Given the description of an element on the screen output the (x, y) to click on. 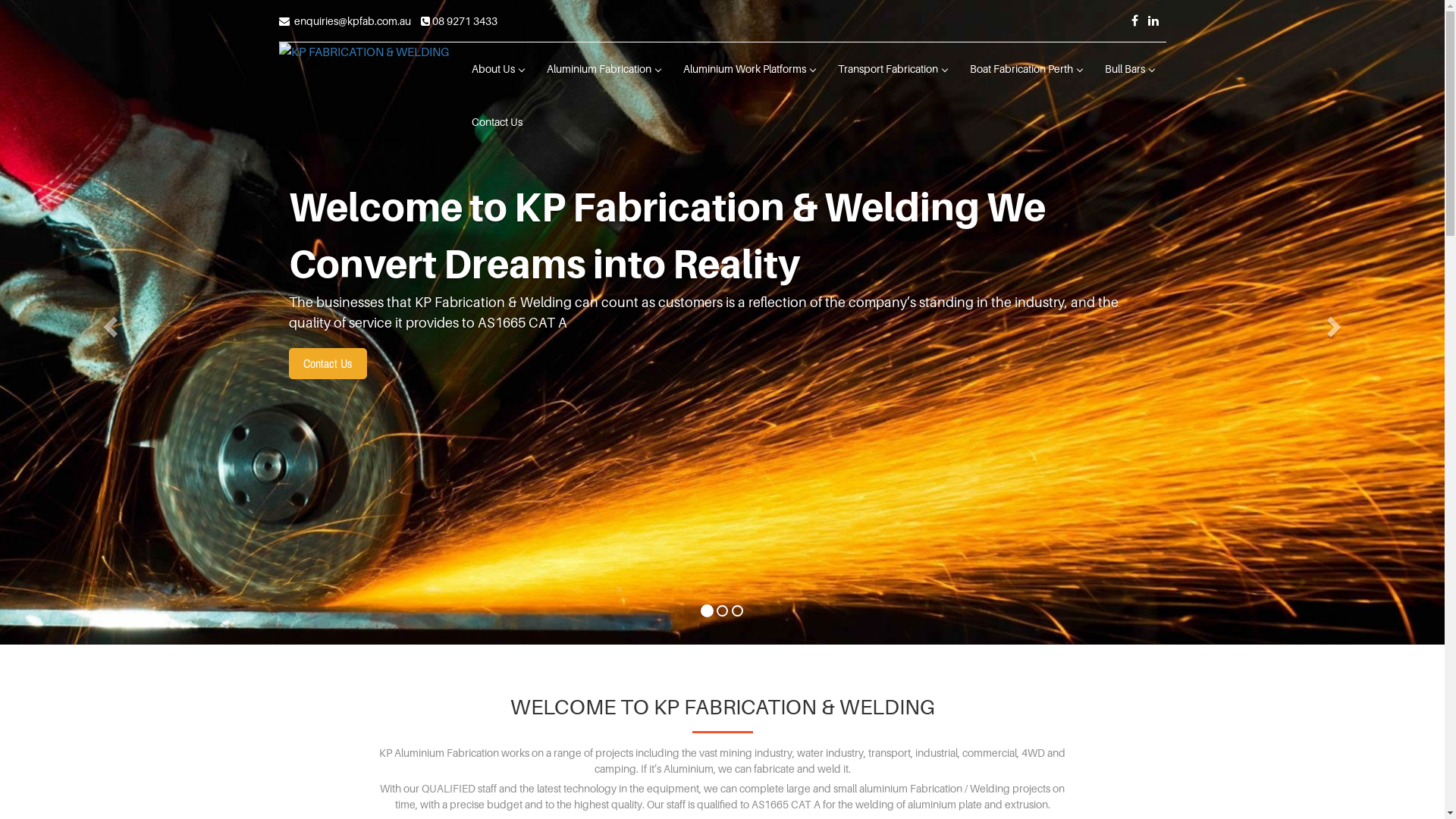
Contact Us Element type: text (496, 121)
Next Element type: text (1335, 322)
Contact Us Element type: text (327, 363)
Previous Element type: text (108, 322)
Transport Fabrication Element type: text (892, 68)
 08 9271 3433 Element type: text (458, 20)
  enquiries@kpfab.com.au Element type: text (345, 20)
About Us Element type: text (496, 68)
Aluminium Fabrication Element type: text (603, 68)
Aluminium Work Platforms Element type: text (748, 68)
Bull Bars Element type: text (1129, 68)
Boat Fabrication Perth Element type: text (1025, 68)
